Given the description of an element on the screen output the (x, y) to click on. 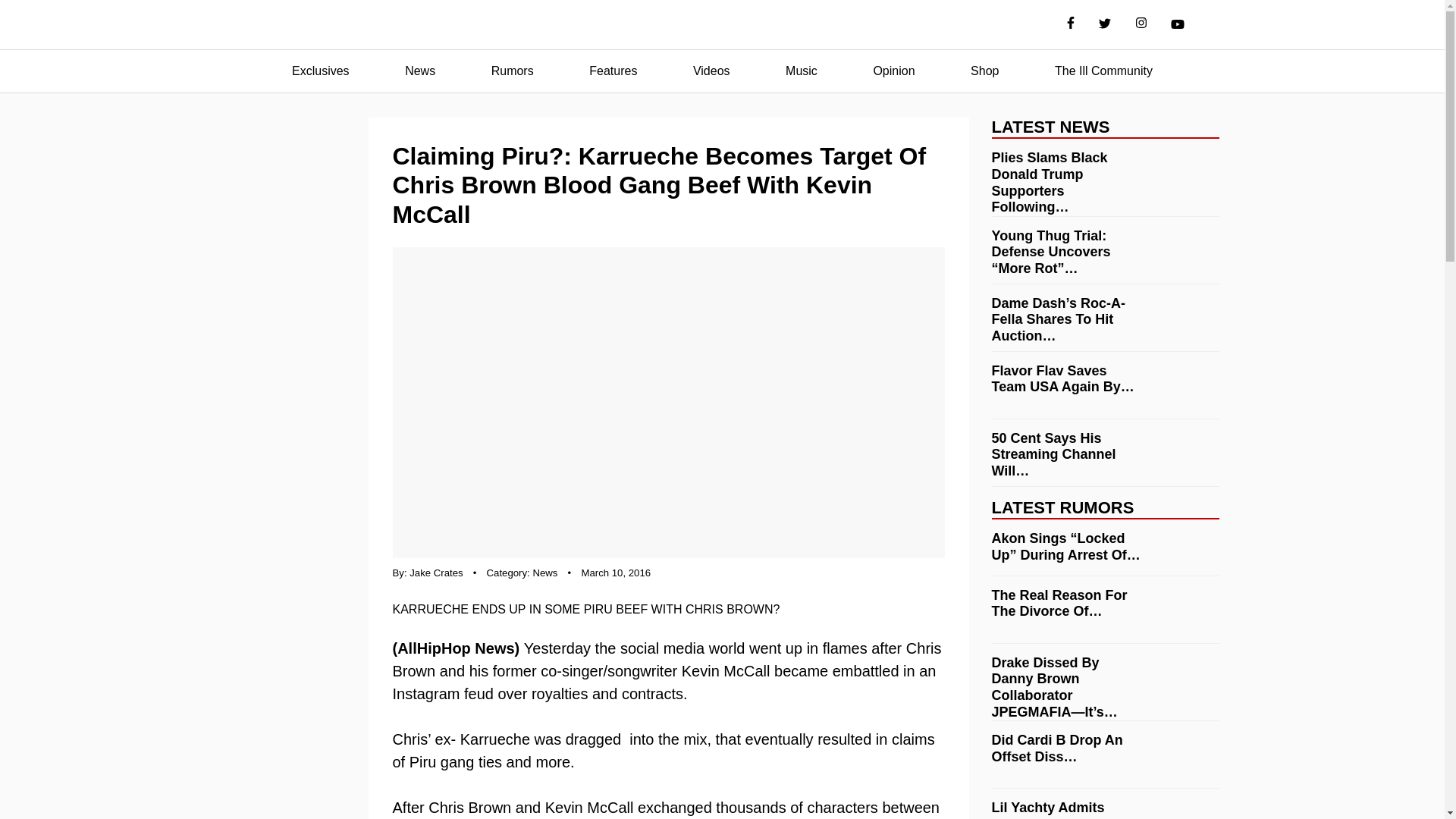
News (419, 70)
Exclusives (320, 70)
AllHipHop (722, 25)
Rumors (512, 70)
Features (612, 70)
Opinion (893, 70)
Jake Crates (436, 572)
March 10, 2016 (615, 572)
Music (801, 70)
The Ill Community (1103, 70)
Shop (984, 70)
News (544, 572)
Videos (711, 70)
